Given the description of an element on the screen output the (x, y) to click on. 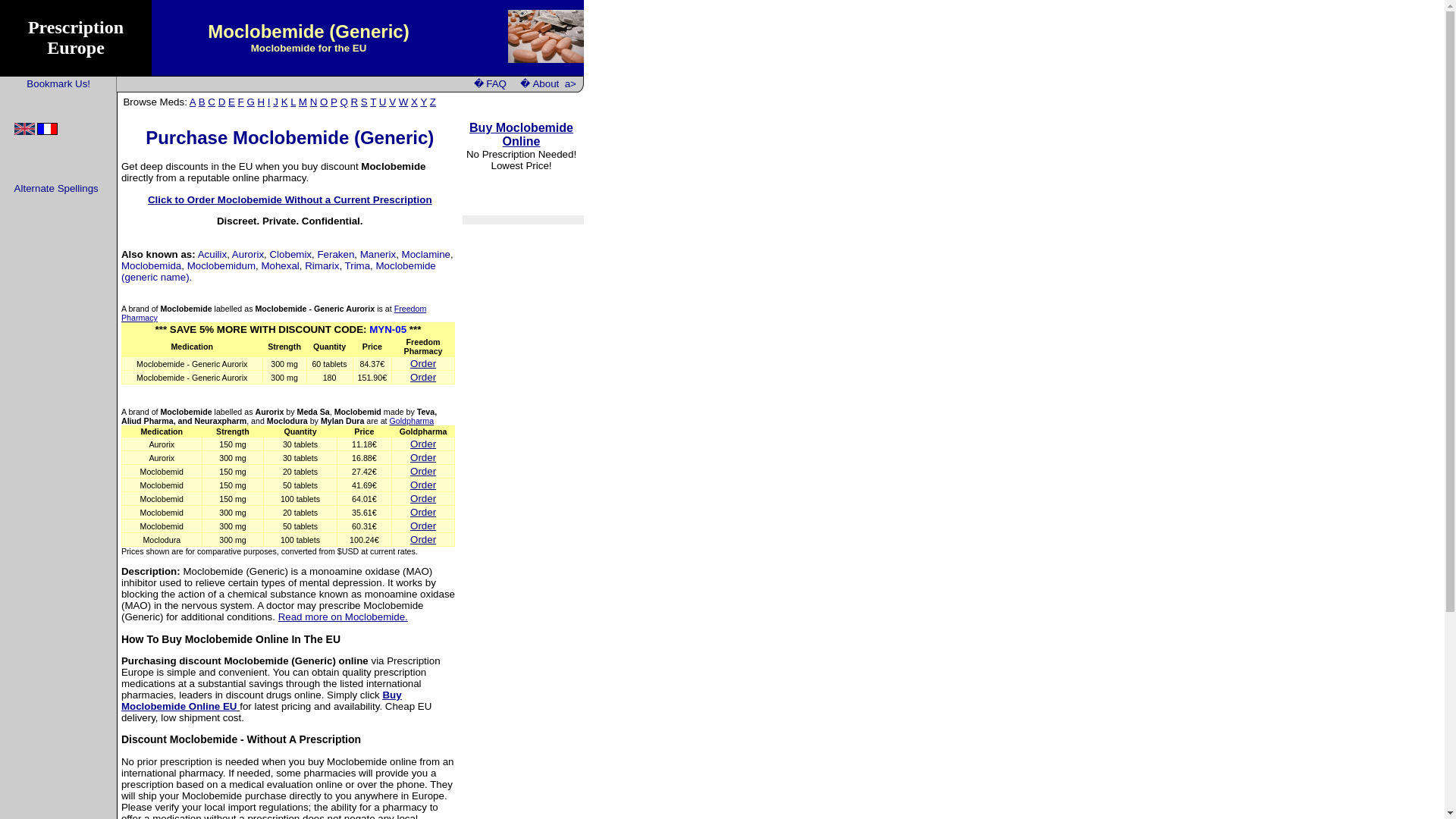
Order (422, 498)
Trima (358, 265)
Order (422, 363)
Rimarix (321, 265)
Moclobemidum (221, 265)
Buy Moclobemide Online EU (260, 700)
Acuilix (212, 254)
Click to Order Moclobemide Without a Current Prescription (290, 199)
Moclamine (425, 254)
Freedom Pharmacy (273, 312)
Manerix (377, 254)
Clobemix (290, 254)
Bookmark Us! (58, 83)
Order (422, 525)
Goldpharma (411, 420)
